Given the description of an element on the screen output the (x, y) to click on. 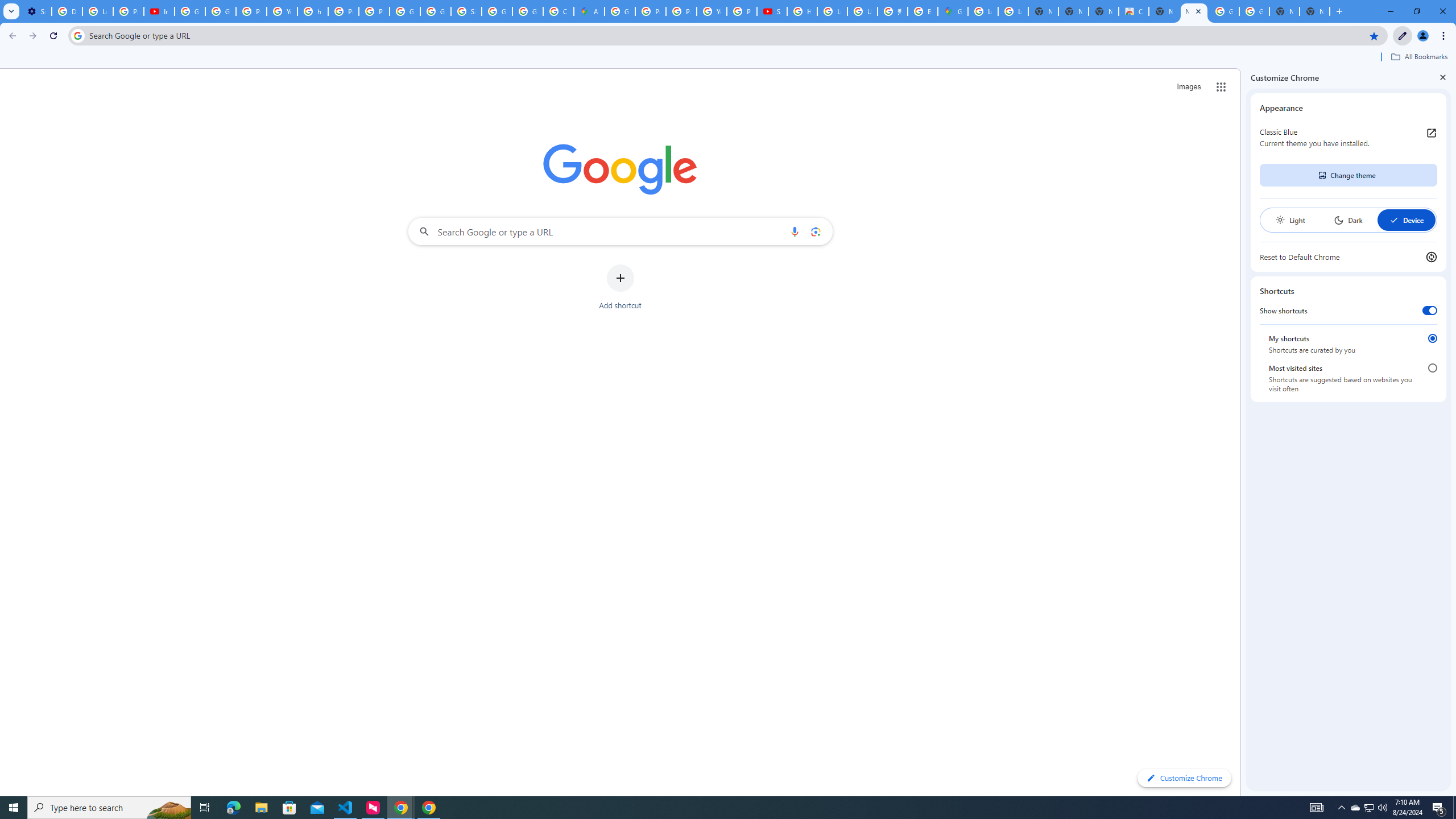
Google Images (1224, 11)
Chrome Web Store (1133, 11)
Settings - Performance (36, 11)
Privacy Help Center - Policies Help (650, 11)
Add shortcut (620, 287)
Create your Google Account (558, 11)
Change theme (1348, 174)
Device (1406, 219)
https://scholar.google.com/ (312, 11)
Search by image (816, 230)
Address and search bar (725, 35)
